Given the description of an element on the screen output the (x, y) to click on. 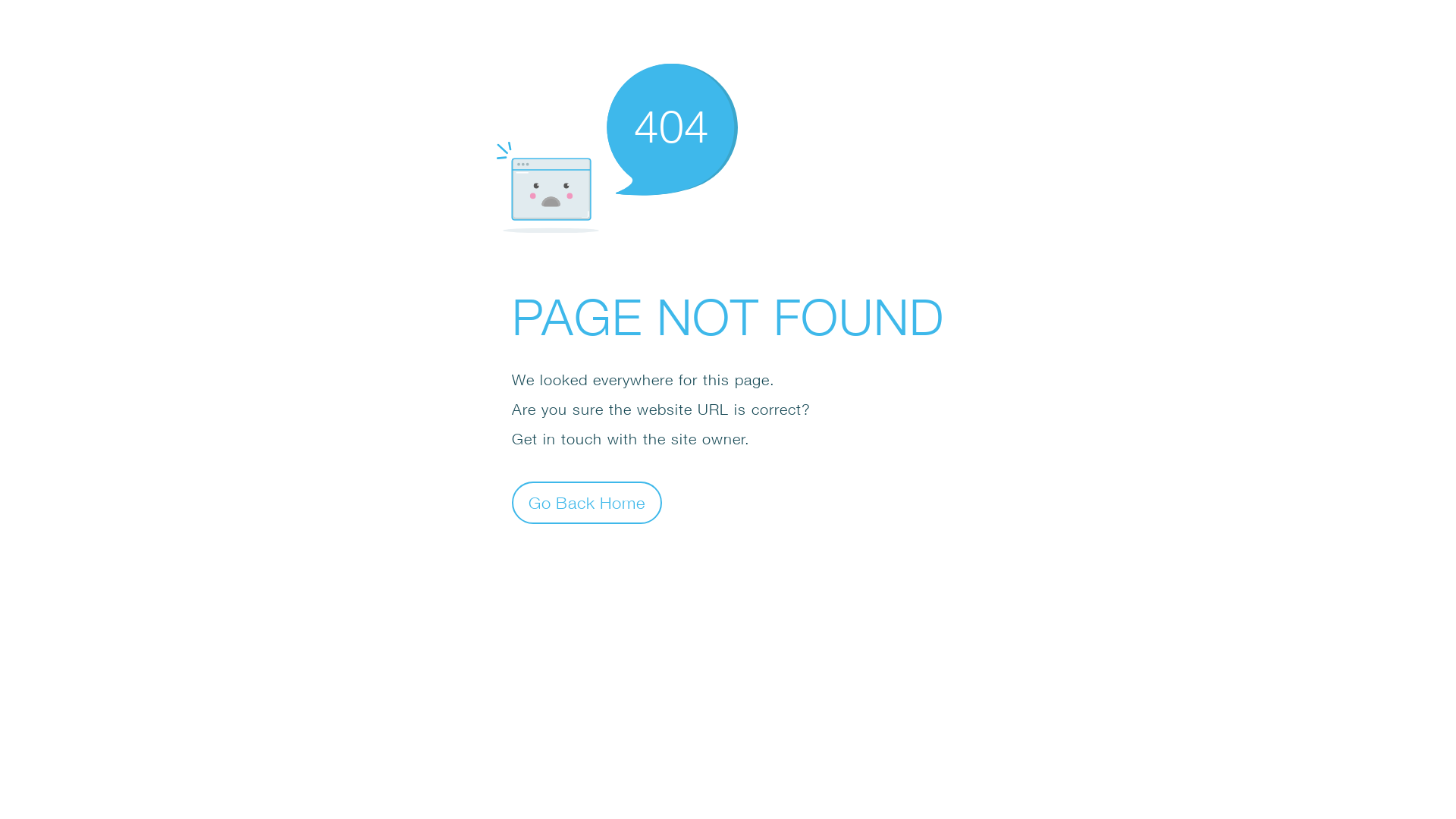
Go Back Home Element type: text (586, 502)
